Given the description of an element on the screen output the (x, y) to click on. 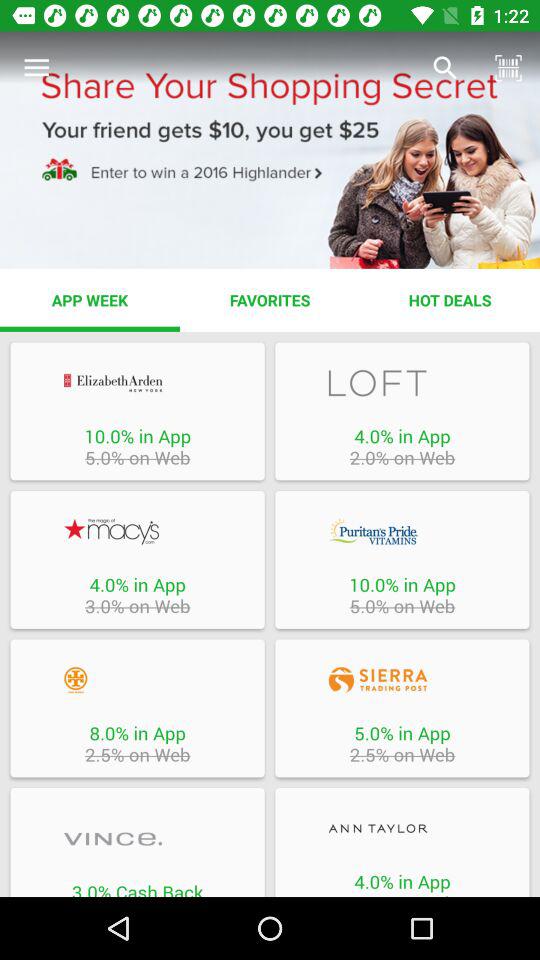
click the scanner icon on the top right corner of the web page (508, 68)
